Given the description of an element on the screen output the (x, y) to click on. 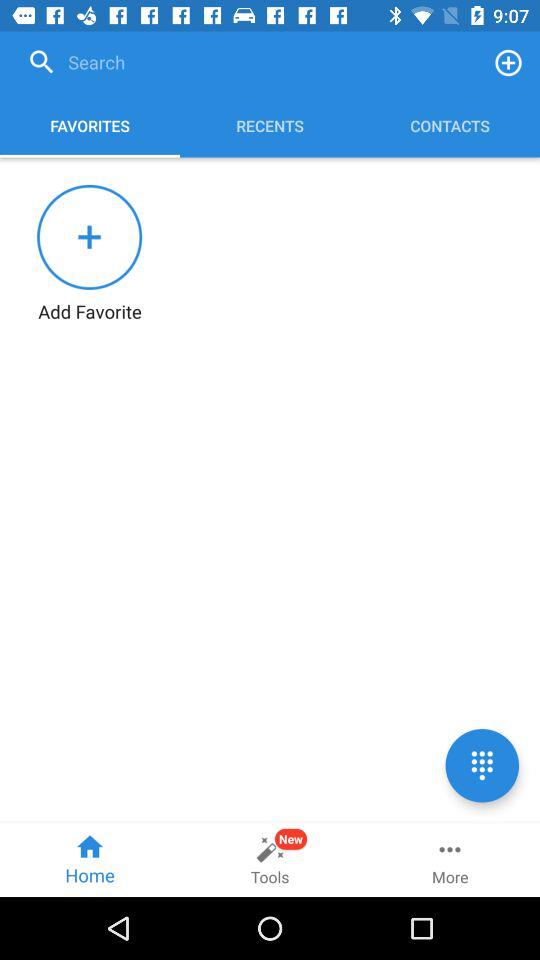
phone keypad (482, 765)
